Given the description of an element on the screen output the (x, y) to click on. 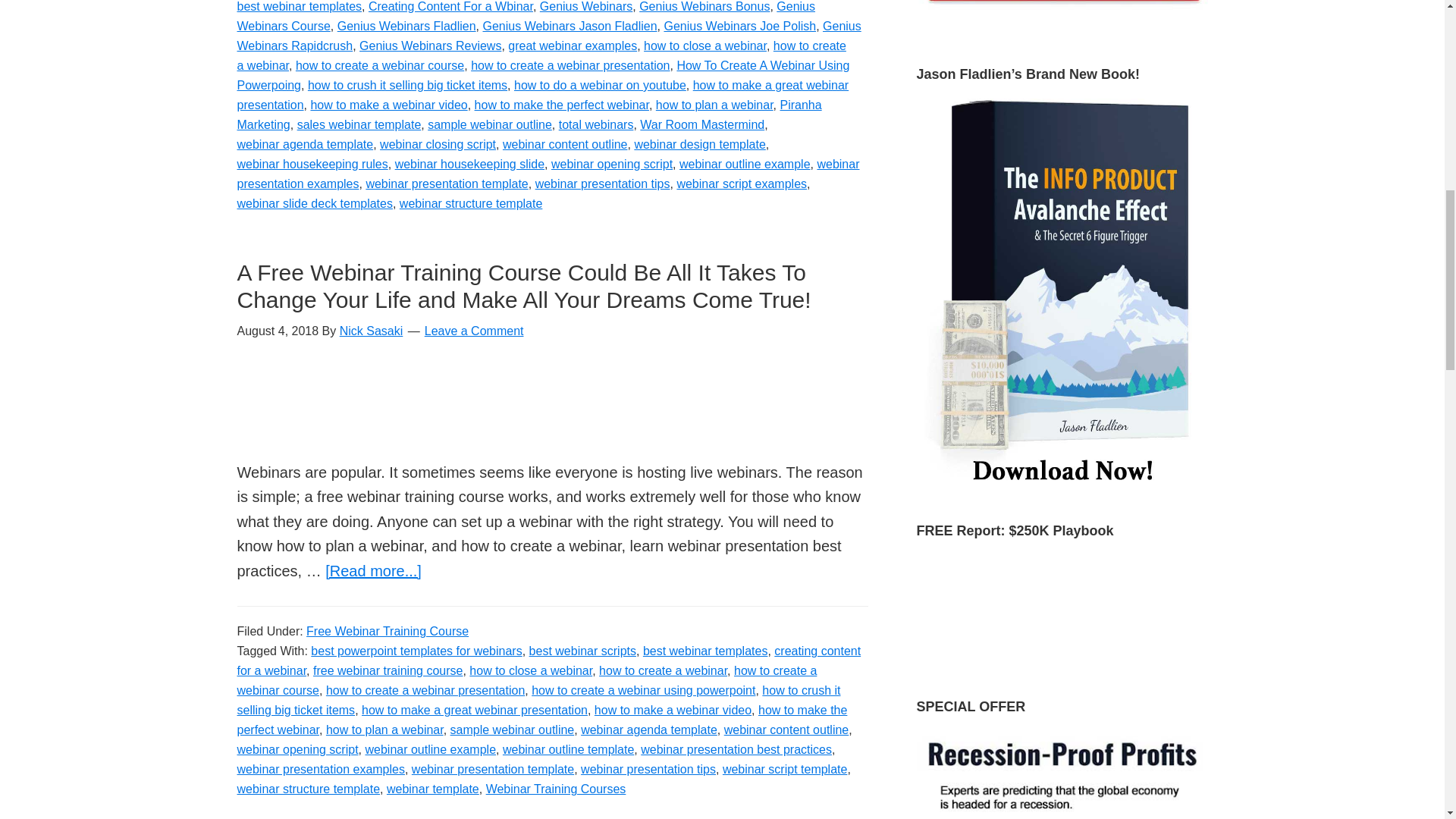
Genius Webinars Jason Fladlien (568, 25)
Genius Webinars Rapidcrush (547, 35)
How To Create A Webinar Using Powerpoing (541, 74)
how to make the perfect webinar (561, 104)
how to close a webinar (705, 45)
how to crush it selling big ticket items (406, 84)
how to do a webinar on youtube (599, 84)
best webinar templates (298, 6)
how to plan a webinar (714, 104)
great webinar examples (572, 45)
Genius Webinars (585, 6)
Piranha Marketing (528, 114)
Creating Content For a Wbinar (450, 6)
how to make a great webinar presentation (541, 94)
Genius Webinars Bonus (704, 6)
